Given the description of an element on the screen output the (x, y) to click on. 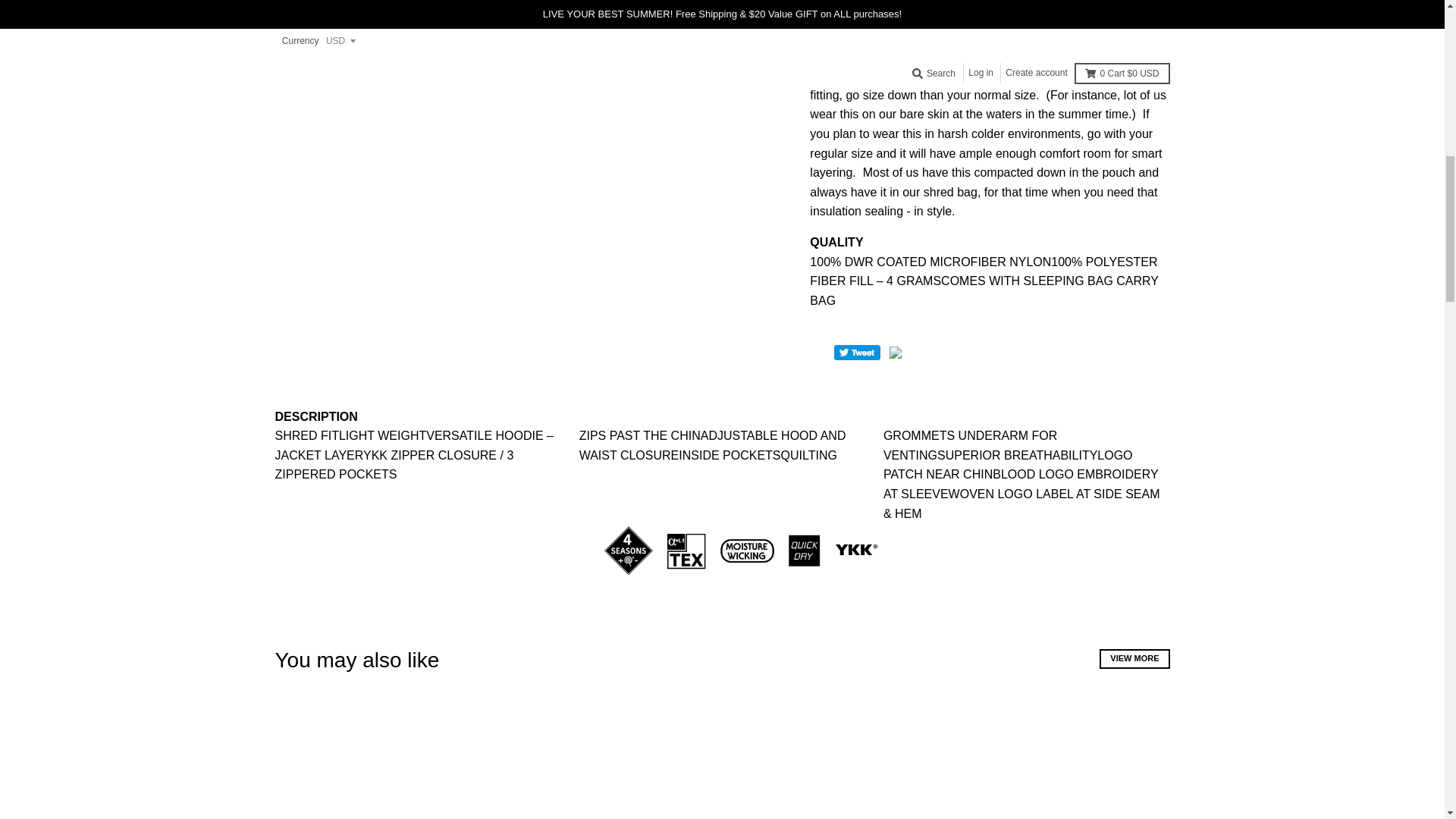
YouTube video player (502, 29)
